Given the description of an element on the screen output the (x, y) to click on. 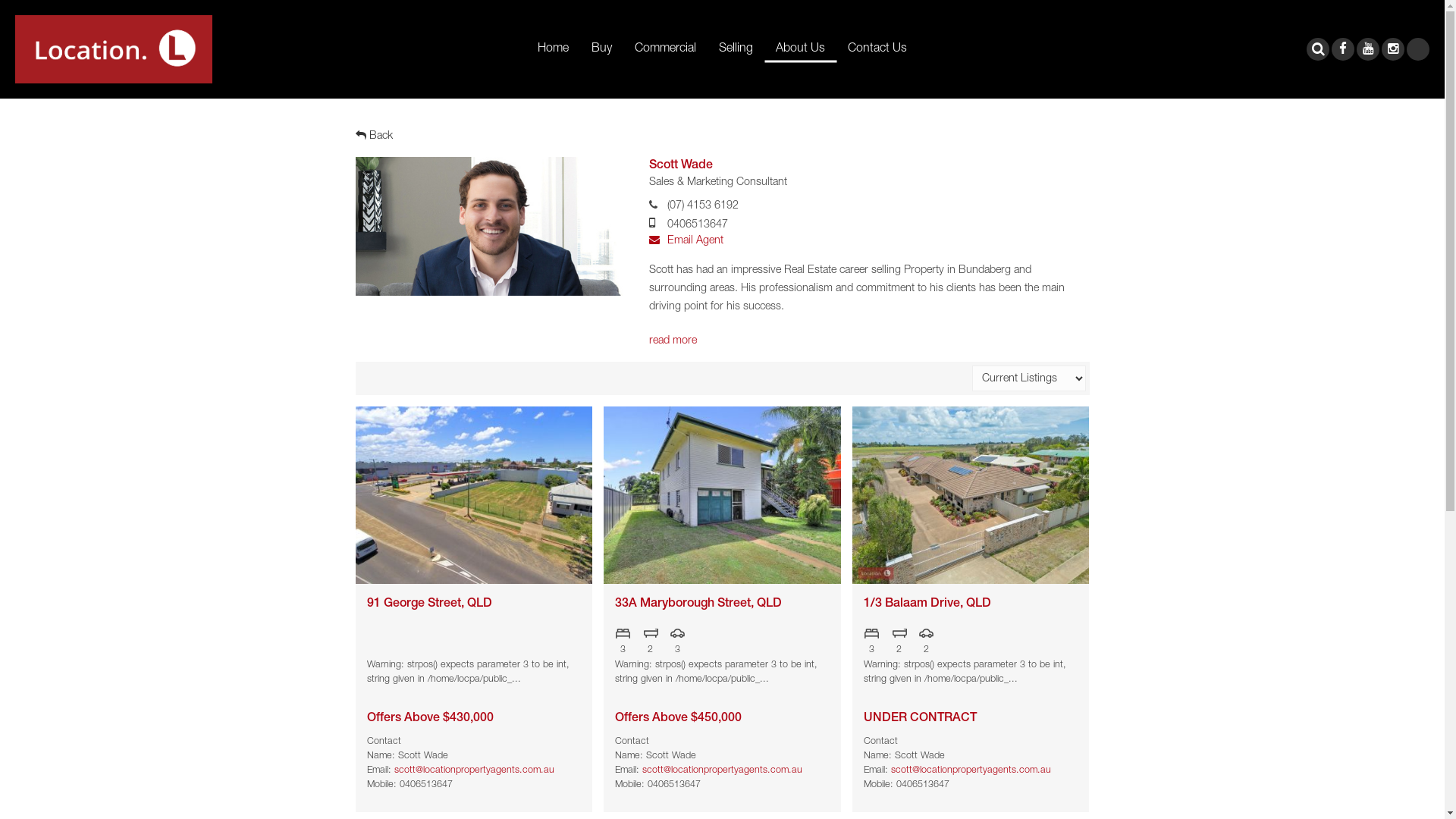
read more Element type: text (672, 340)
(07) 4153 6192 Element type: text (702, 205)
Instagram Element type: hover (1391, 48)
About Us Element type: text (800, 49)
Home Element type: text (553, 49)
Contact Us Element type: text (877, 49)
Youtube Element type: hover (1366, 48)
SPACIOUS LIVING IN A SECURE GATED COMPLEX! Element type: hover (970, 494)
1,336m2 in PRIME CBD LOCATION!! Element type: hover (473, 494)
scott@locationpropertyagents.com.au Element type: text (474, 770)
33A Maryborough Street, QLD Element type: text (722, 604)
Rate My Agent Element type: hover (1416, 52)
scott@locationpropertyagents.com.au Element type: text (971, 770)
Email Agent Element type: text (686, 240)
91 George Street, QLD Element type: text (474, 604)
Buy Element type: text (601, 49)
0406513647 Element type: text (697, 224)
Back Element type: text (373, 136)
Selling Element type: text (735, 49)
EXCELLENT PROPERTY IN PRIME CBD LOCATION! Element type: hover (721, 494)
Facebook Element type: hover (1341, 48)
Location Property Agents -  Element type: hover (113, 49)
1/3 Balaam Drive, QLD Element type: text (970, 604)
scott@locationpropertyagents.com.au Element type: text (722, 770)
Commercial Element type: text (665, 49)
